Given the description of an element on the screen output the (x, y) to click on. 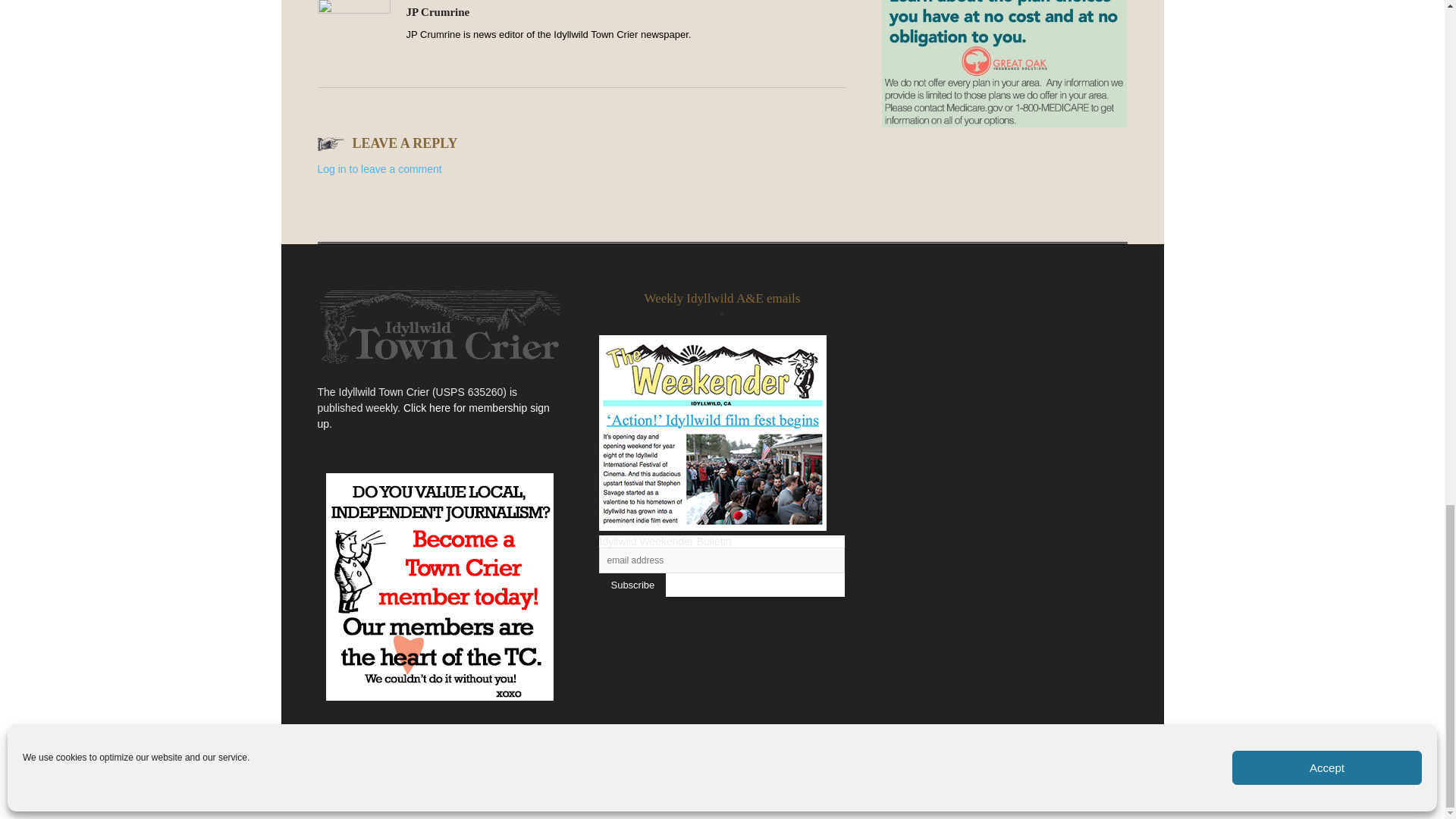
Subscribe (631, 585)
